Given the description of an element on the screen output the (x, y) to click on. 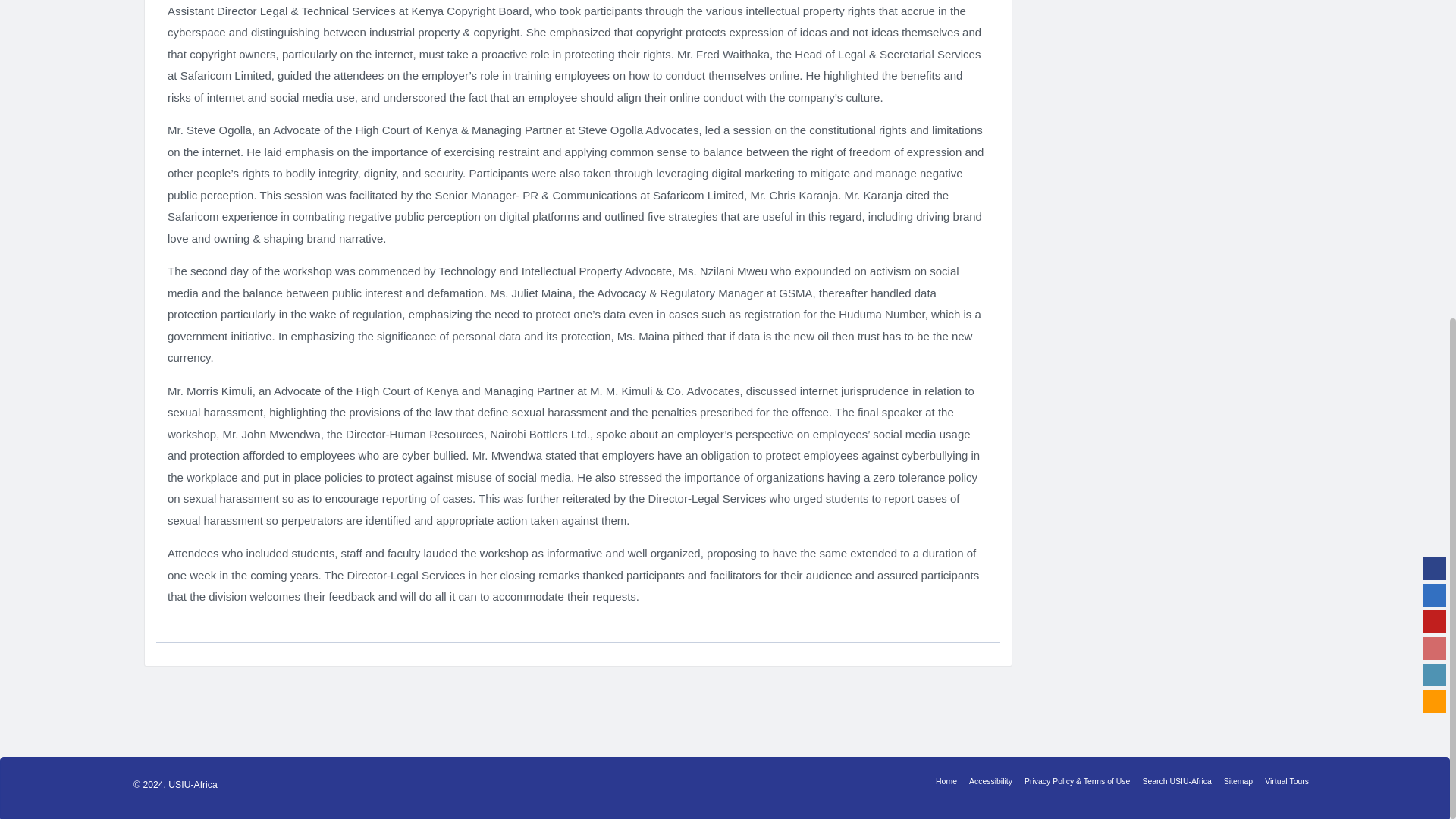
Instagram (1434, 127)
Facebook (1434, 47)
X (1434, 74)
LinkedIn (1434, 153)
YouTube (1434, 100)
Talk to us (1434, 179)
